Given the description of an element on the screen output the (x, y) to click on. 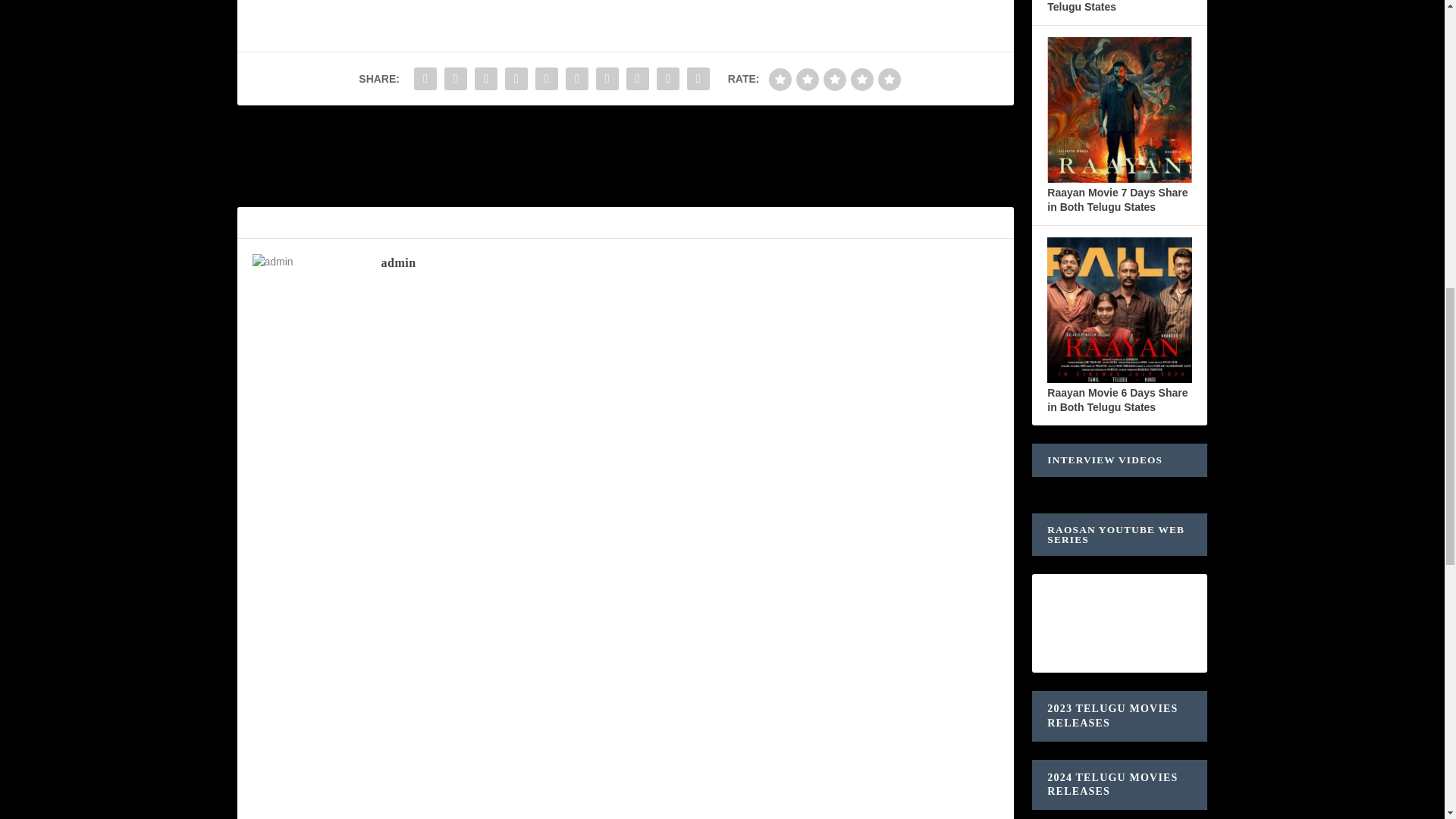
Share "Sudigadu SUDIGALI hits Hyderabad" via Email (667, 78)
Share "Sudigadu SUDIGALI hits Hyderabad" via Stumbleupon (637, 78)
Share "Sudigadu SUDIGALI hits Hyderabad" via LinkedIn (577, 78)
Share "Sudigadu SUDIGALI hits Hyderabad" via Tumblr (515, 78)
Share "Sudigadu SUDIGALI hits Hyderabad" via Pinterest (546, 78)
Share "Sudigadu SUDIGALI hits Hyderabad" via Twitter (455, 78)
Share "Sudigadu SUDIGALI hits Hyderabad" via Facebook (425, 78)
Share "Sudigadu SUDIGALI hits Hyderabad" via Buffer (607, 78)
Share "Sudigadu SUDIGALI hits Hyderabad" via Print (697, 78)
